Given the description of an element on the screen output the (x, y) to click on. 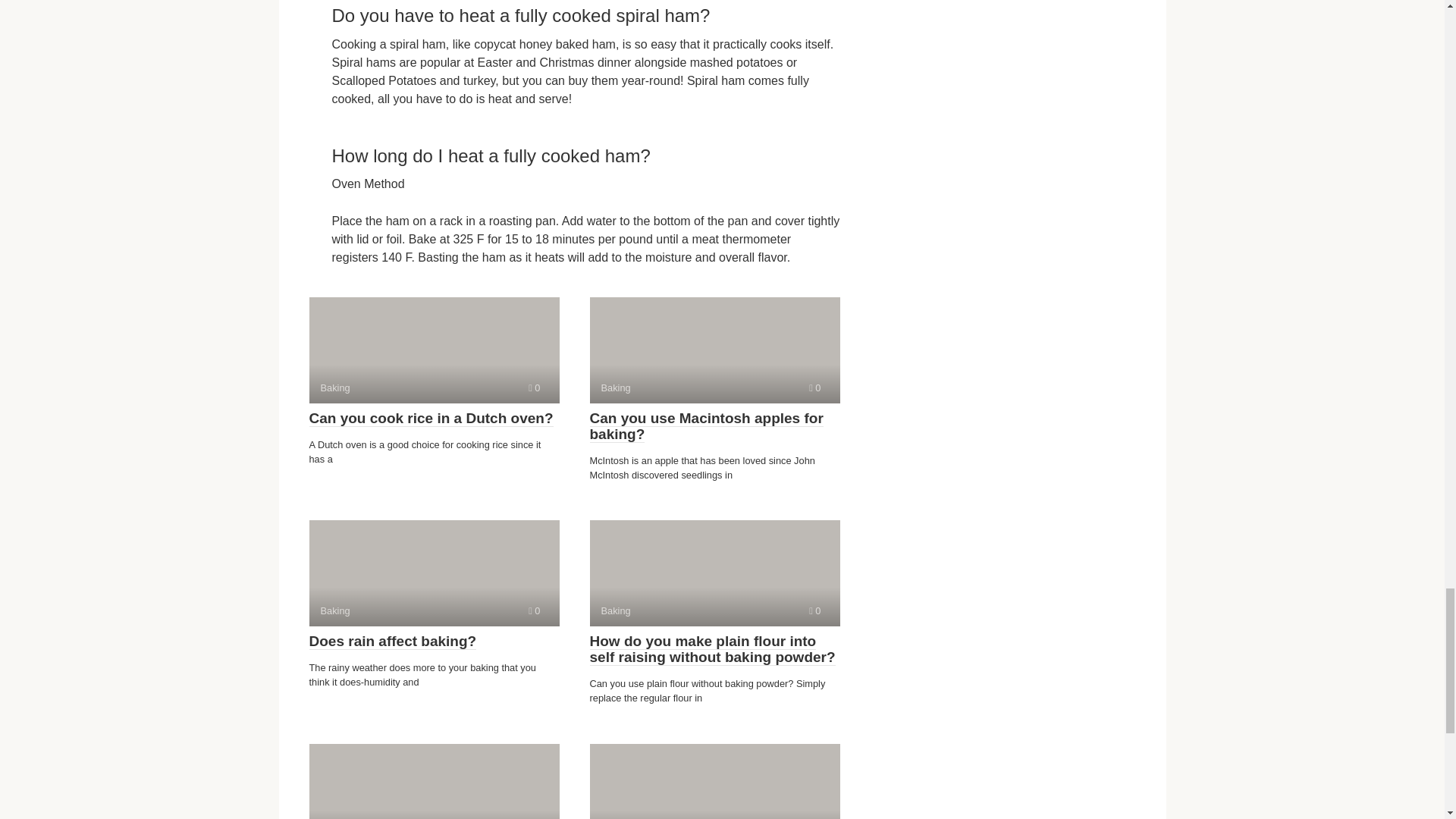
Comments (815, 610)
Can you use Macintosh apples for baking? (714, 350)
Comments (706, 426)
Can you cook rice in a Dutch oven? (433, 573)
Comments (714, 573)
Does rain affect baking? (815, 387)
Comments (430, 418)
